Given the description of an element on the screen output the (x, y) to click on. 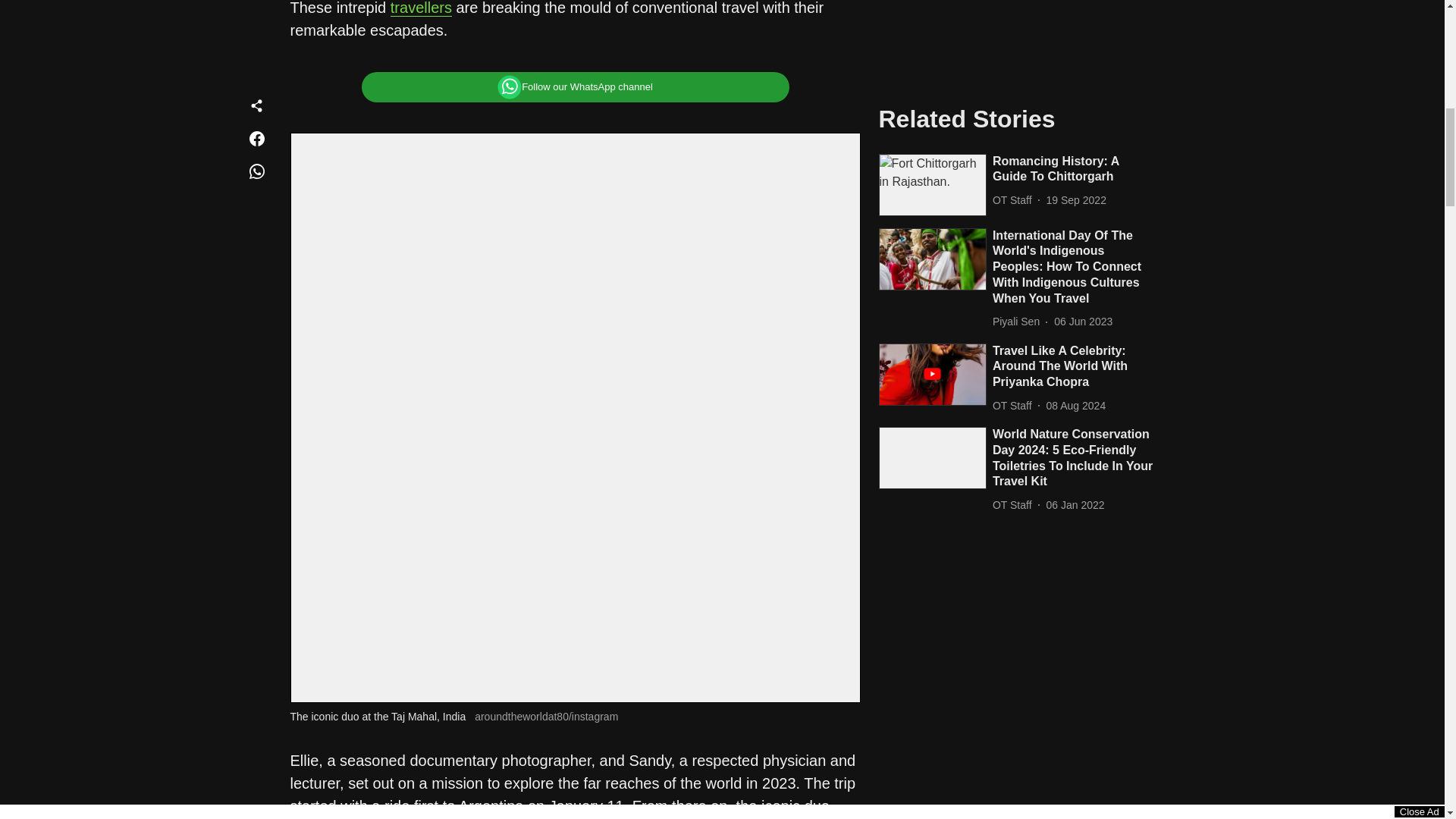
Follow our WhatsApp channel (575, 87)
2024-08-08 12:08 (1076, 25)
2022-01-06 05:30 (1075, 124)
travellers (420, 8)
